Given the description of an element on the screen output the (x, y) to click on. 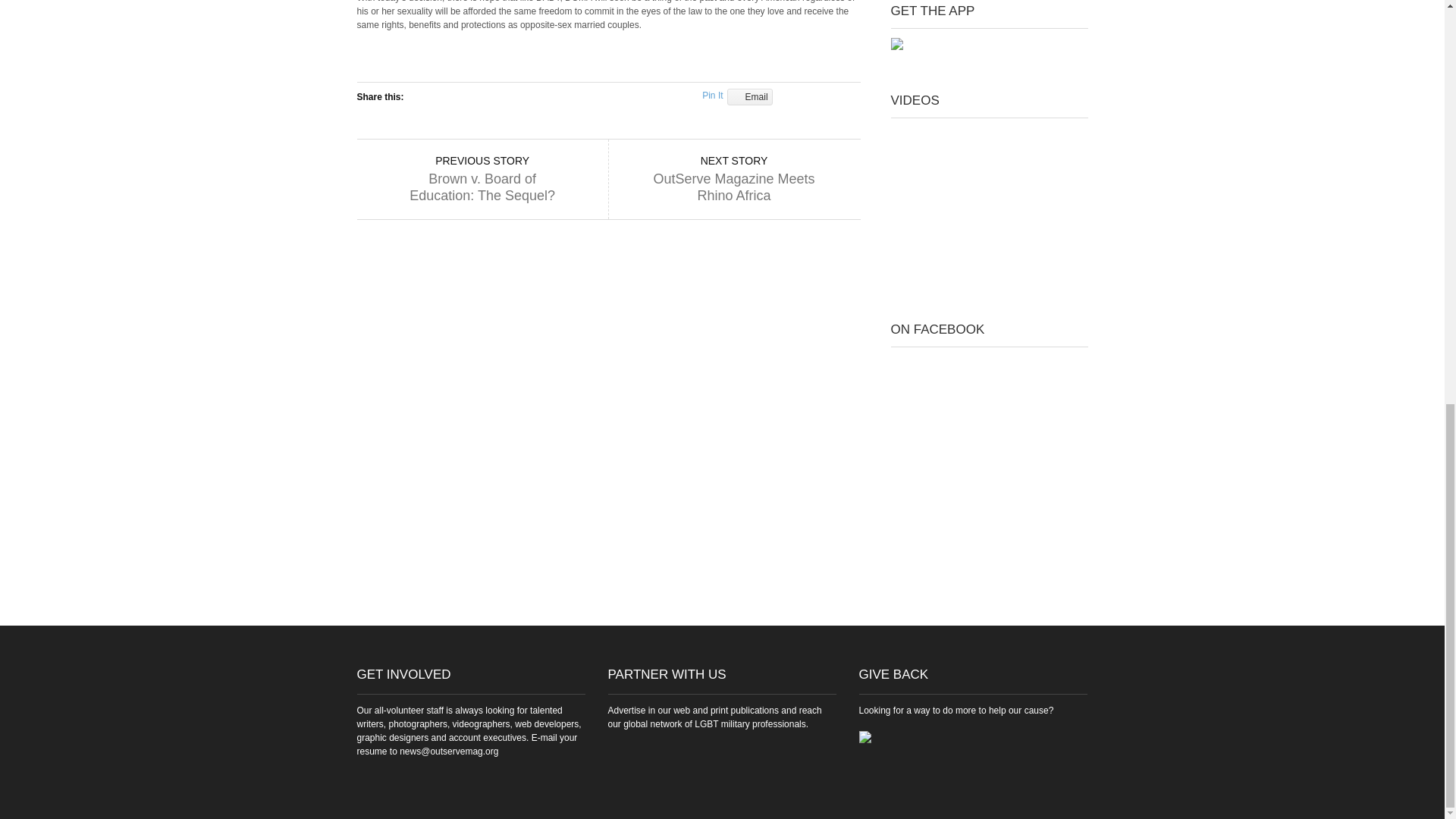
Click to email this to a friend (749, 96)
